Given the description of an element on the screen output the (x, y) to click on. 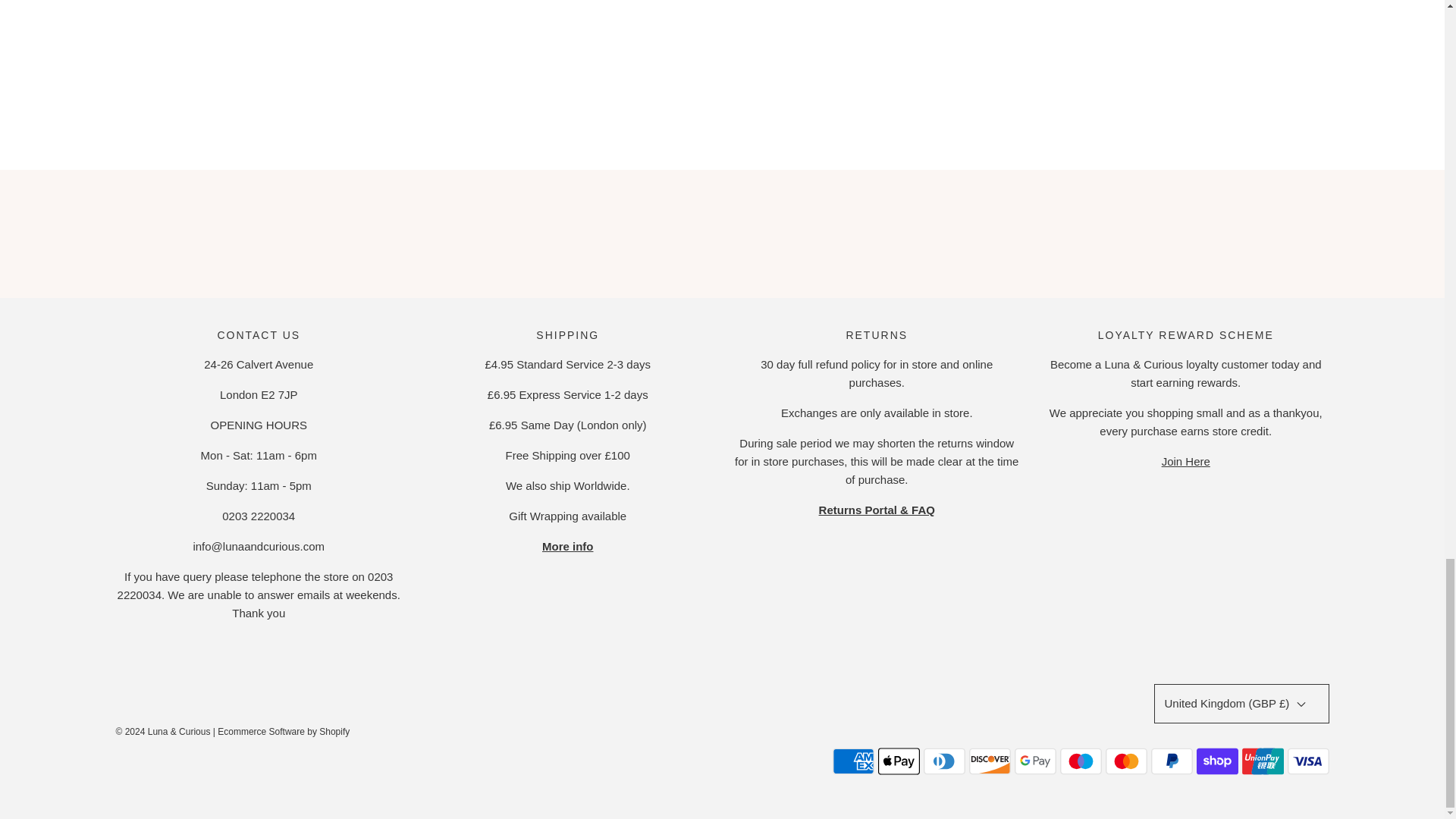
Diners Club (944, 761)
Discover (989, 761)
Returns (876, 509)
American Express (853, 761)
Apple Pay (898, 761)
Delivery Information (567, 545)
